Given the description of an element on the screen output the (x, y) to click on. 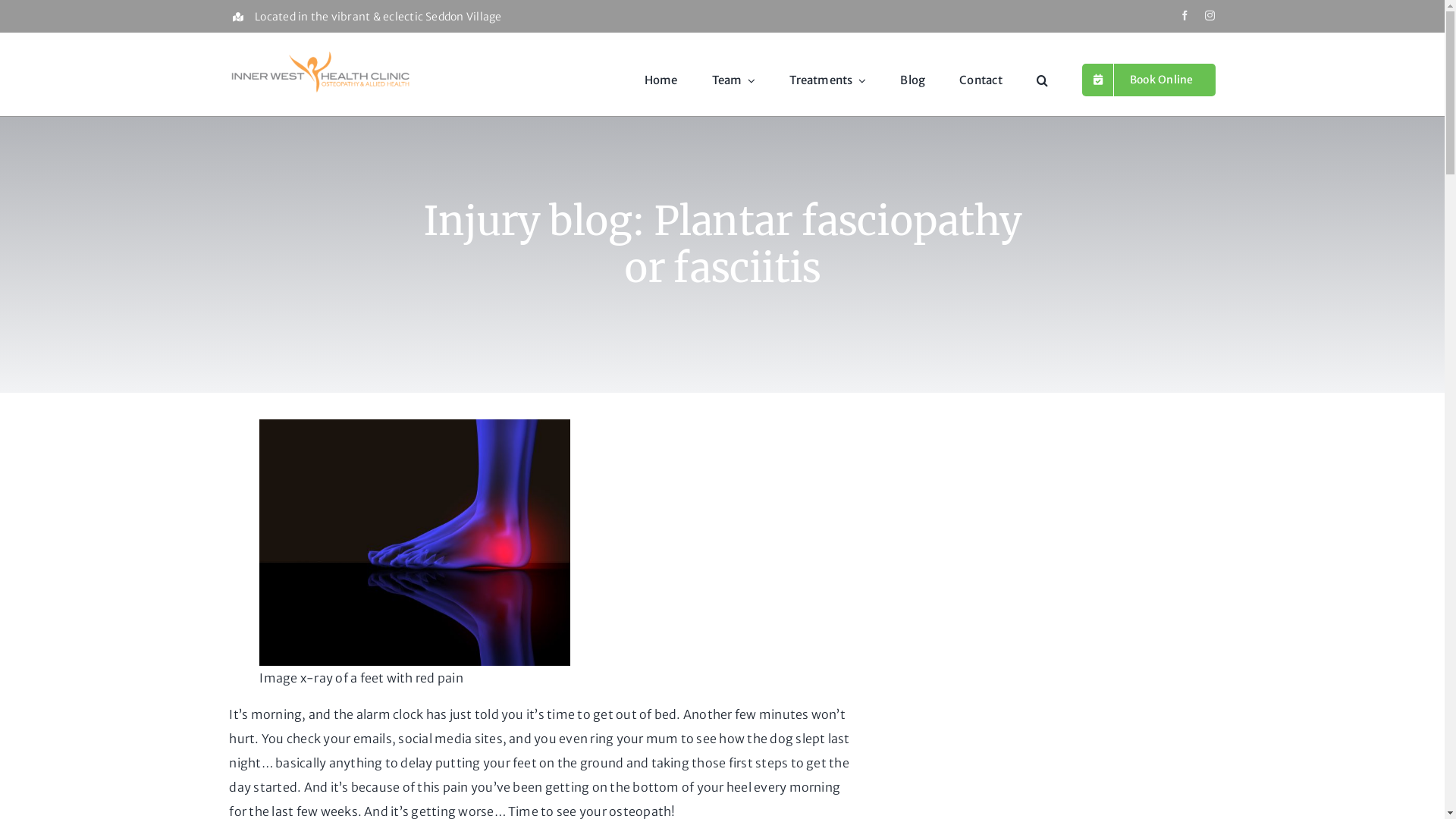
Blog Element type: text (912, 79)
Search Element type: hover (1042, 79)
Book Online Element type: text (1148, 79)
Treatments Element type: text (827, 79)
Contact Element type: text (980, 79)
Home Element type: text (660, 79)
Team Element type: text (734, 79)
